Given the description of an element on the screen output the (x, y) to click on. 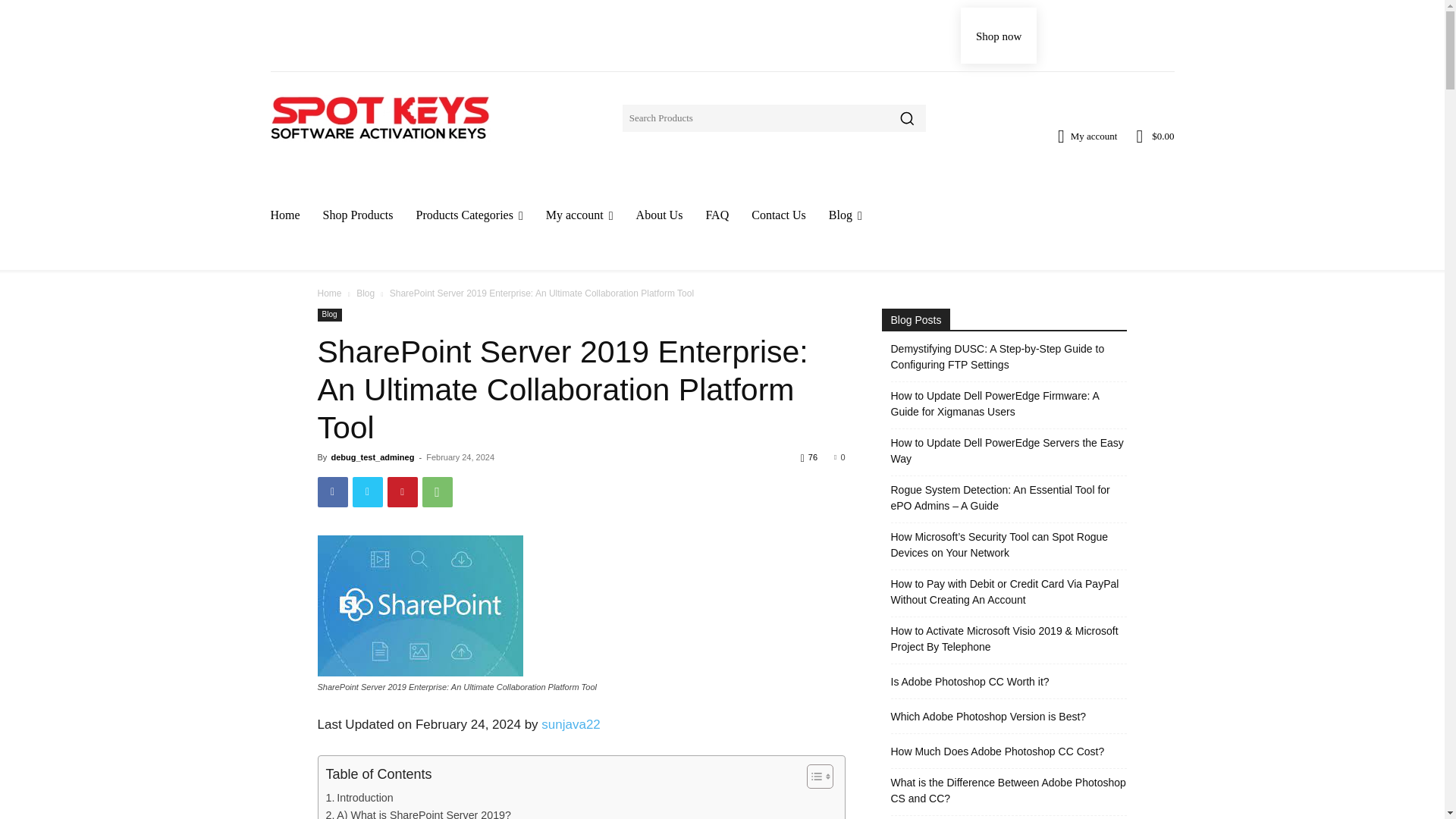
Shop now (998, 35)
Shop Products (358, 215)
Shop now (998, 35)
Products Categories (469, 215)
